Given the description of an element on the screen output the (x, y) to click on. 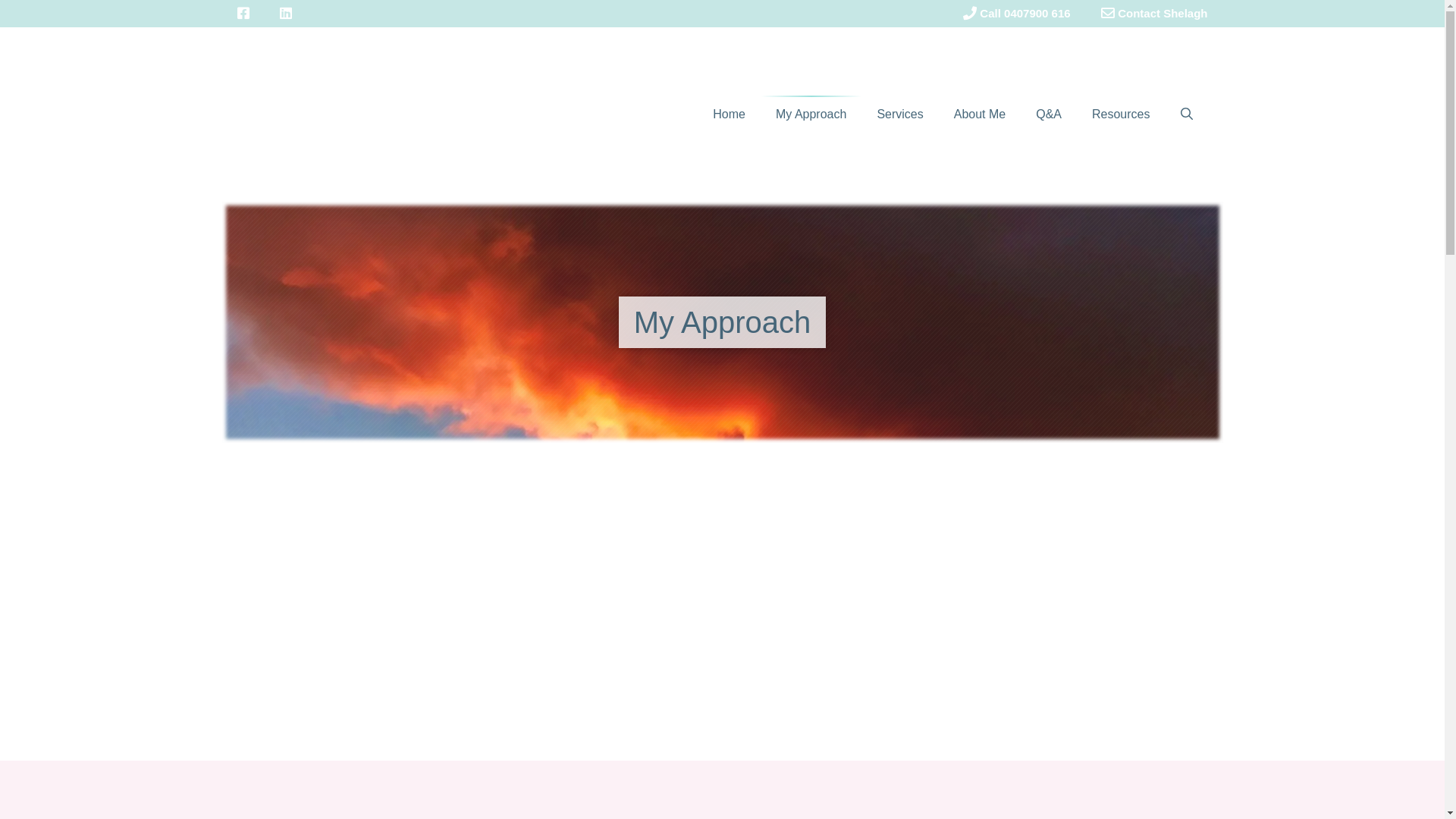
Services Element type: text (899, 114)
Call 0407900 616 Element type: text (1016, 13)
CHR Counselling Element type: hover (365, 114)
Contact Shelagh Element type: text (1154, 13)
Home Element type: text (728, 114)
Q&A Element type: text (1048, 114)
My Approach Element type: text (810, 114)
Resources Element type: text (1120, 114)
Facebook Element type: hover (242, 13)
About Me Element type: text (979, 114)
Linked In Element type: hover (284, 13)
CHR Counselling Element type: hover (365, 113)
